Given the description of an element on the screen output the (x, y) to click on. 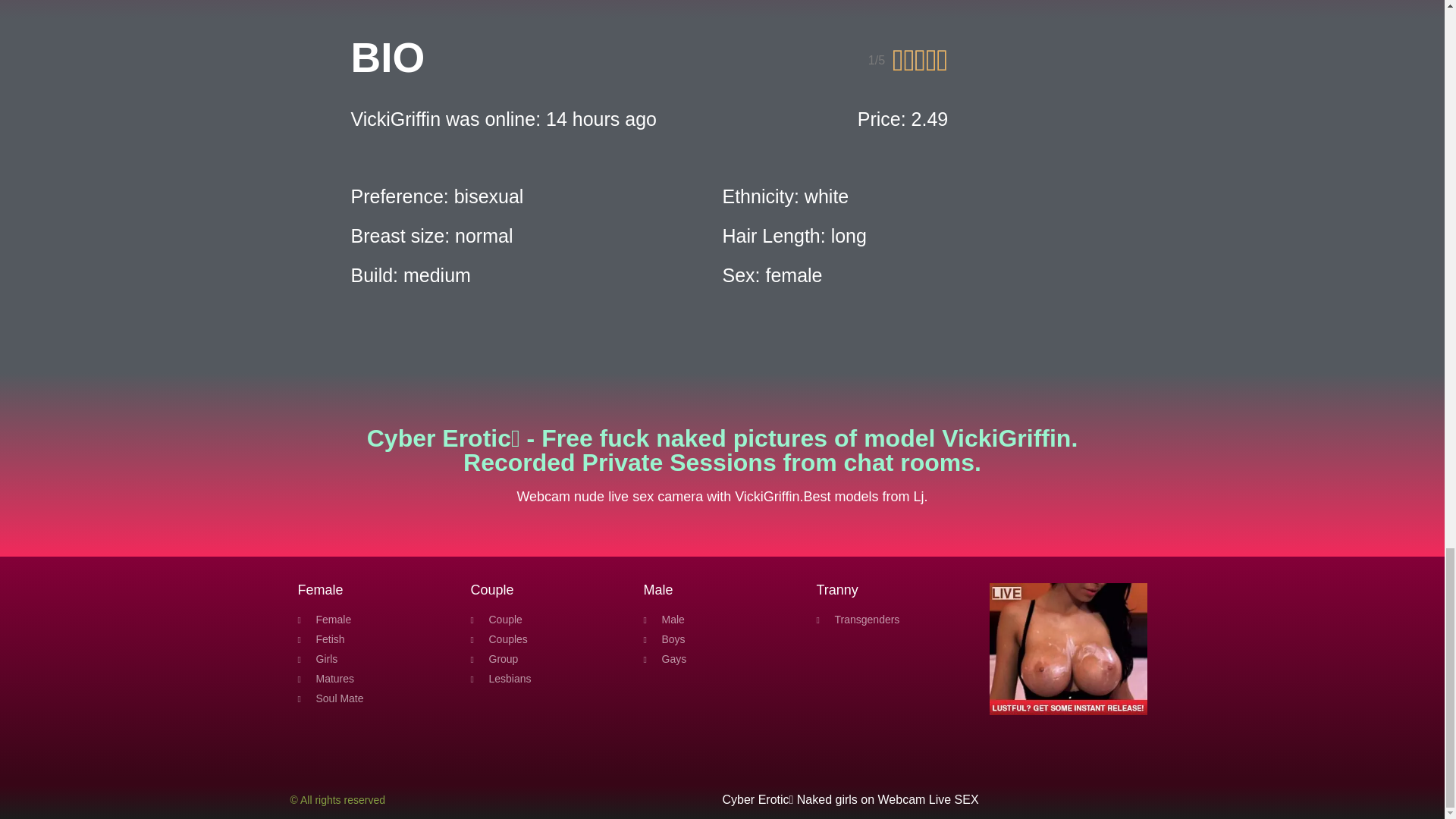
Female (375, 619)
Fetish (375, 639)
